Given the description of an element on the screen output the (x, y) to click on. 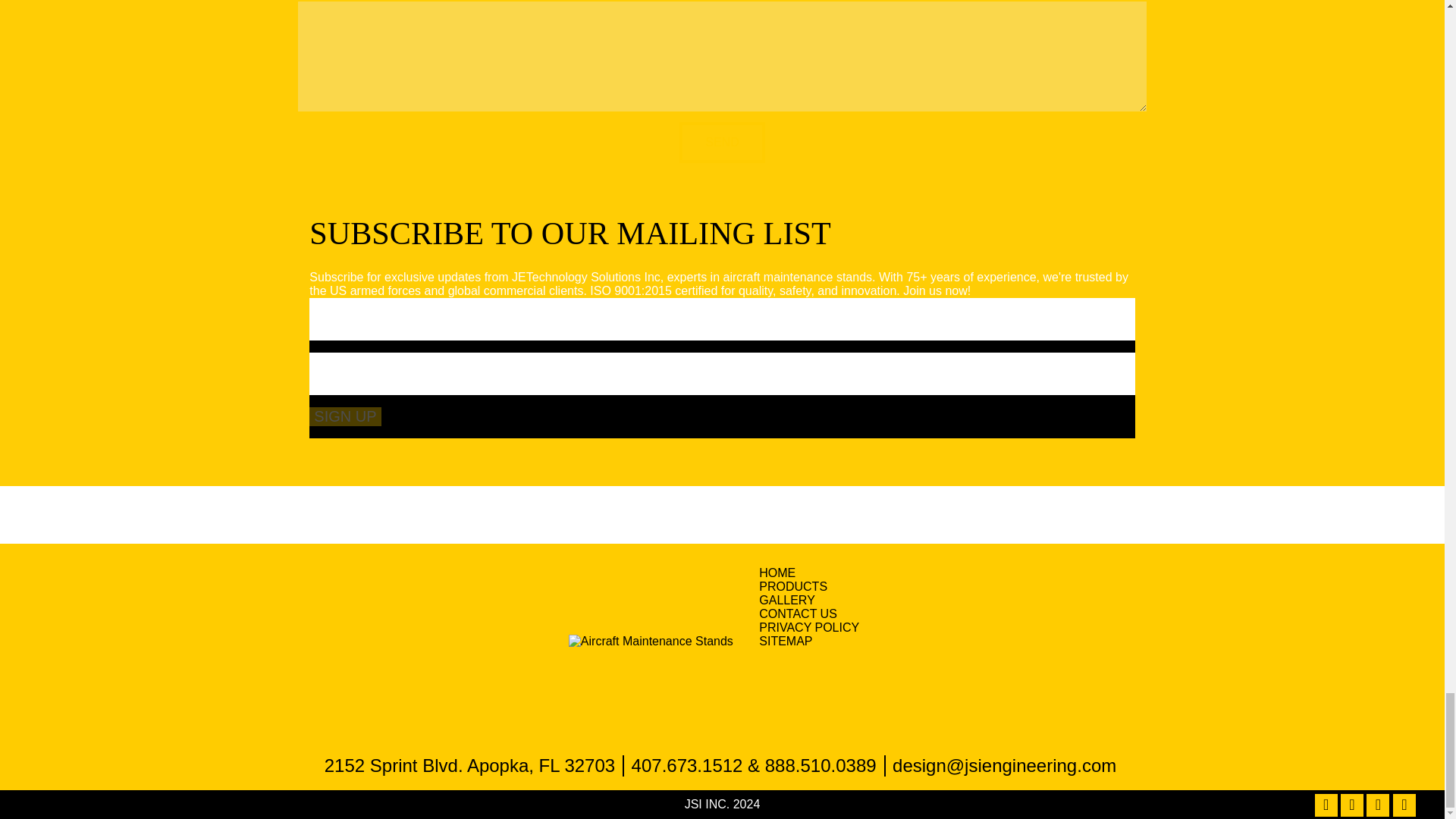
Send (721, 142)
Sign up (344, 416)
